Given the description of an element on the screen output the (x, y) to click on. 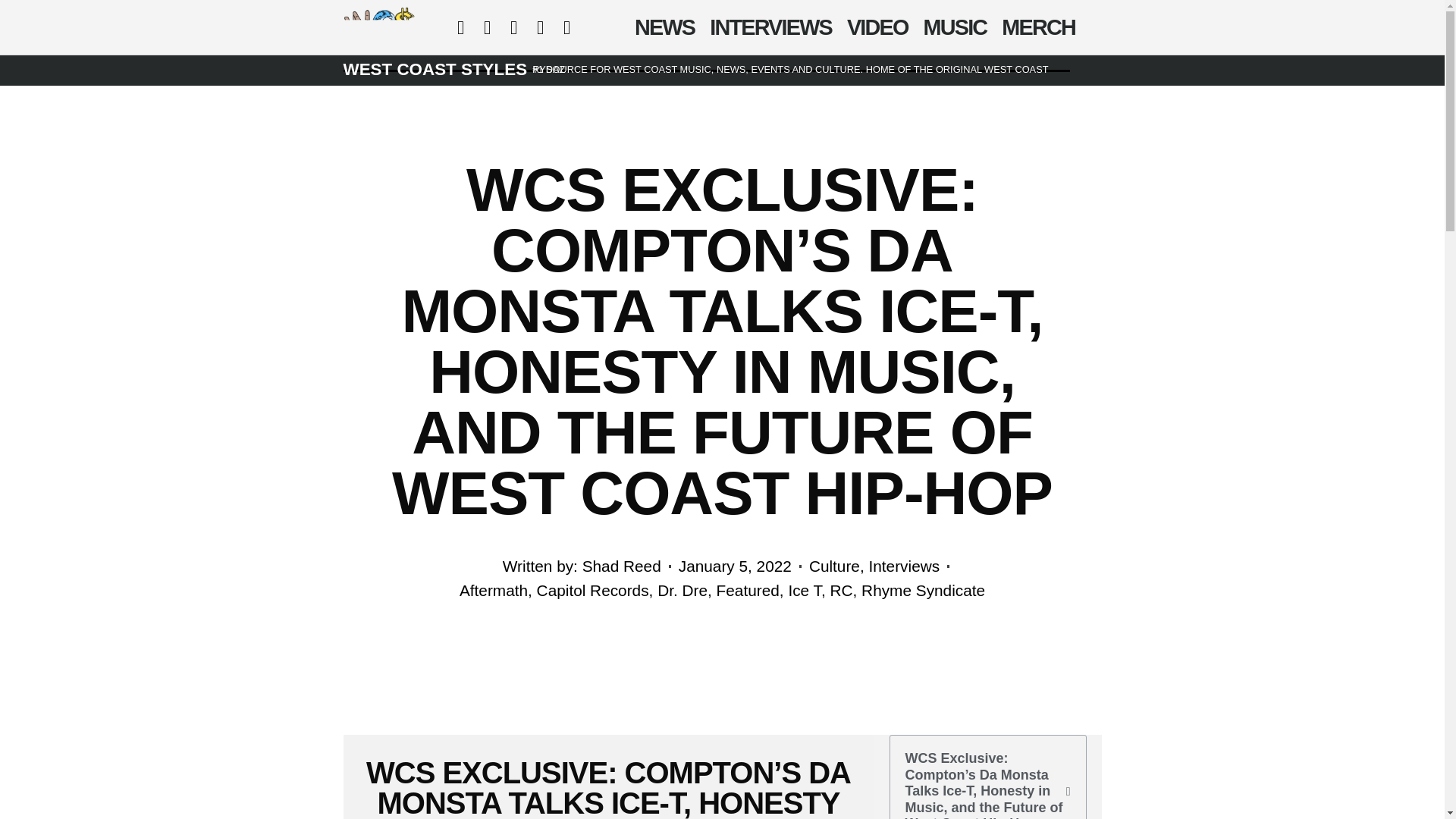
VIDEO (877, 27)
NEWS (664, 27)
MUSIC (954, 27)
MERCH (1038, 27)
Culture (834, 565)
Aftermath (493, 589)
Interviews (904, 565)
January 5, 2022 (735, 566)
Dr. Dre (682, 589)
RC (840, 589)
Featured (747, 589)
INTERVIEWS (770, 27)
Rhyme Syndicate (923, 589)
Capitol Records (593, 589)
Ice T (804, 589)
